Given the description of an element on the screen output the (x, y) to click on. 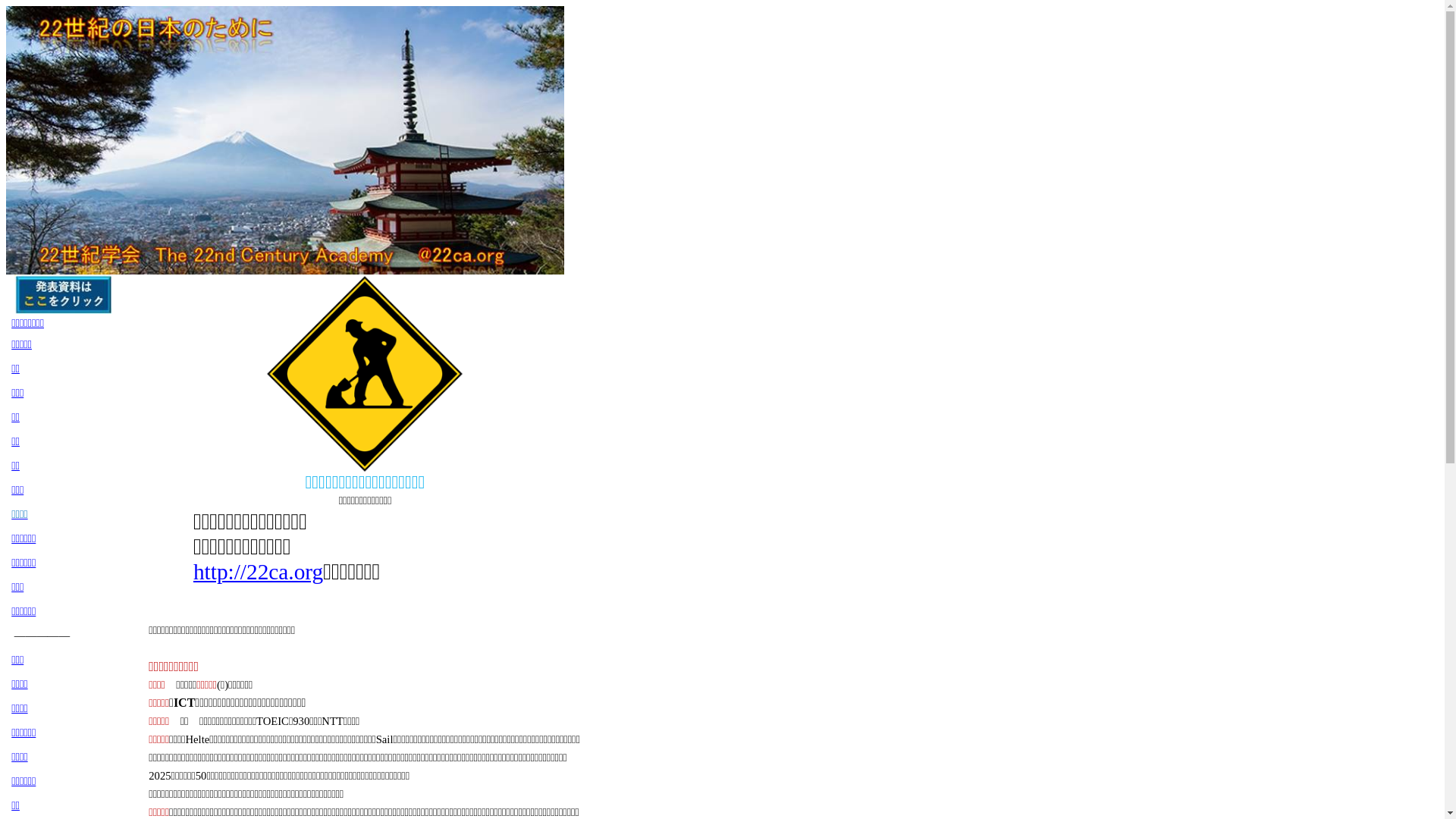
http://22ca.org Element type: text (258, 571)
